Given the description of an element on the screen output the (x, y) to click on. 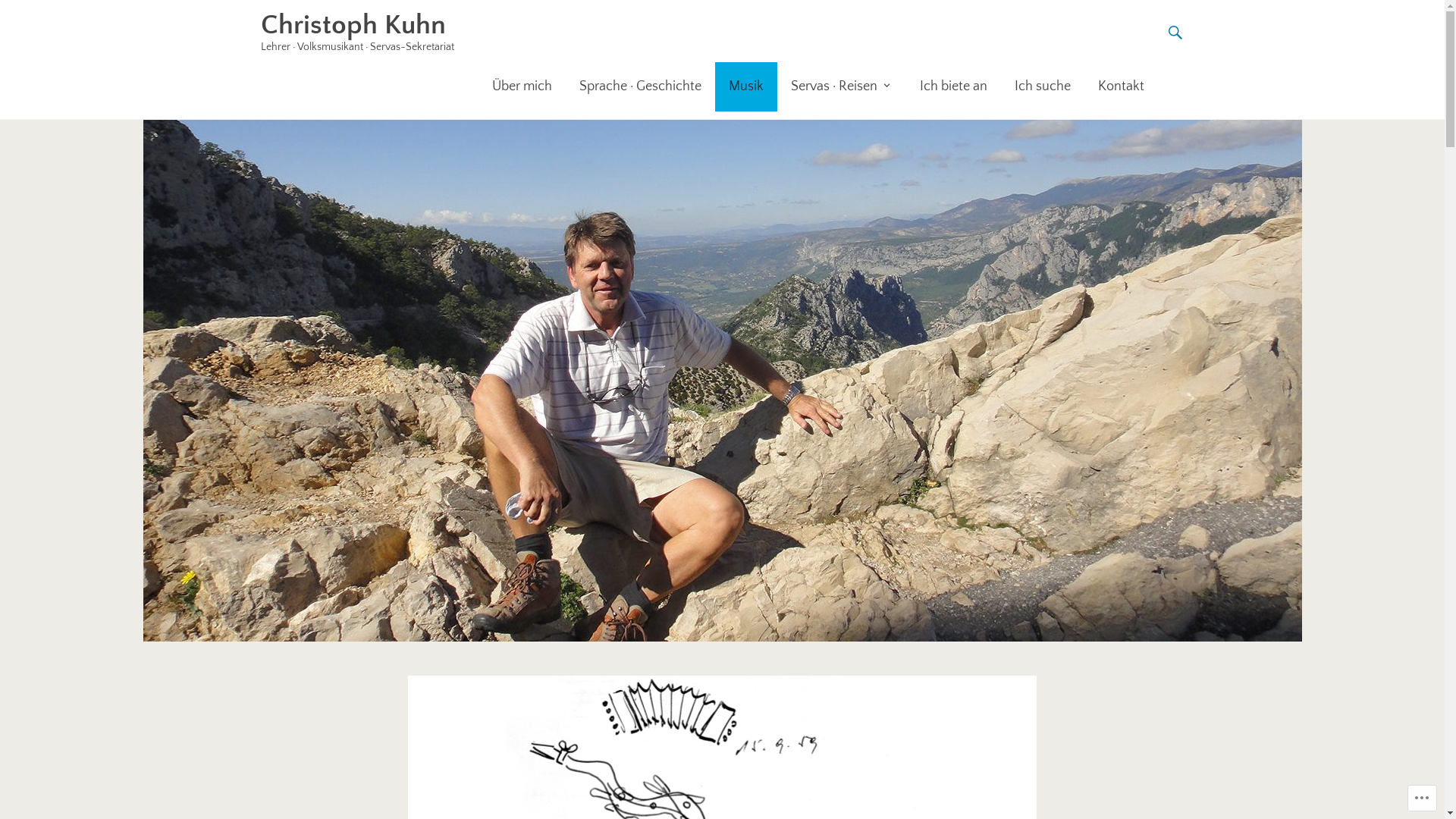
Musik Element type: text (745, 86)
Ich biete an Element type: text (952, 86)
Christoph Kuhn Element type: text (352, 24)
Ich suche Element type: text (1042, 86)
Kontakt Element type: text (1120, 86)
